Given the description of an element on the screen output the (x, y) to click on. 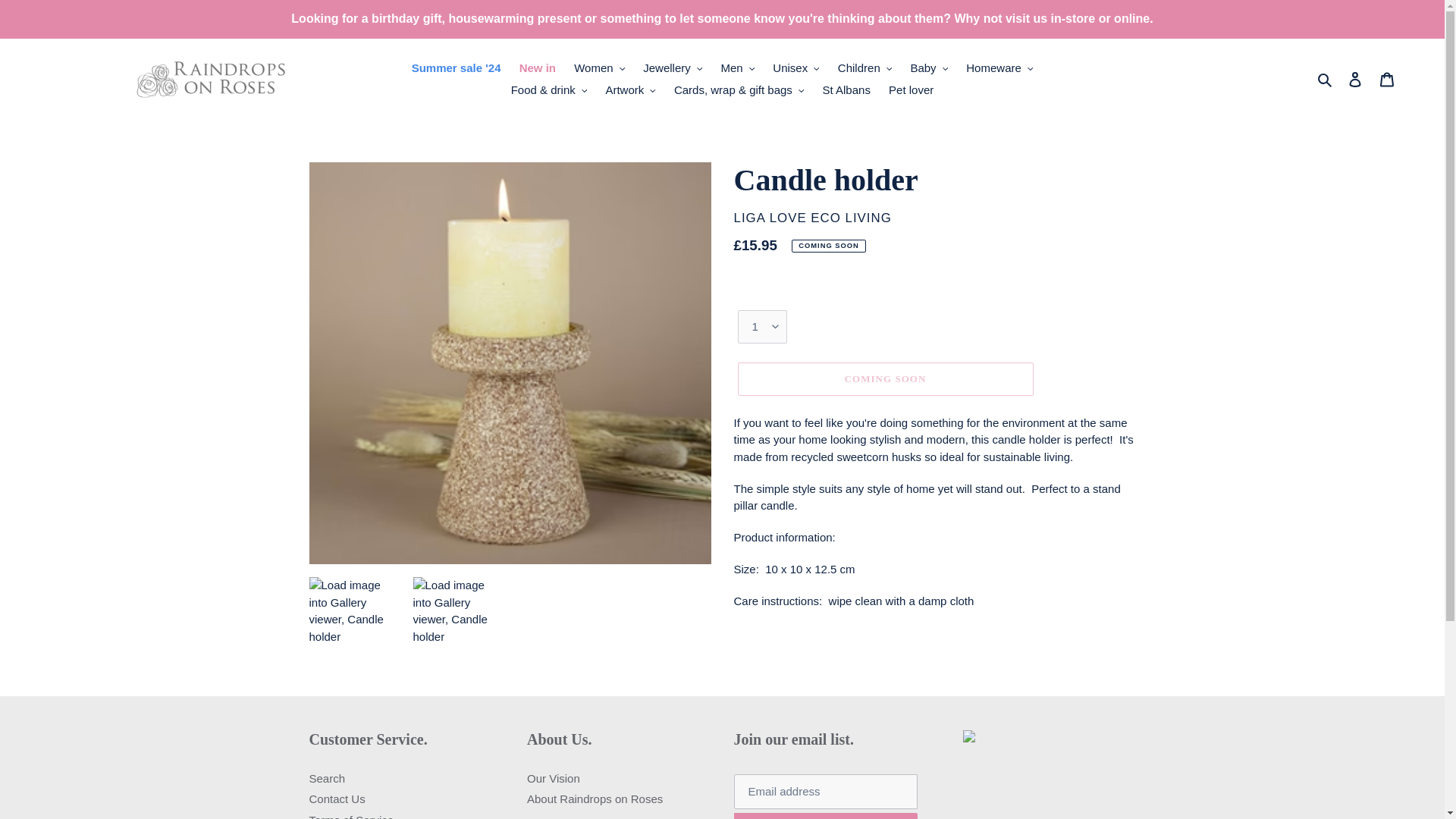
Men (737, 186)
Women (598, 186)
New in (537, 186)
Summer sale '24 (456, 186)
Jewellery (672, 186)
